Given the description of an element on the screen output the (x, y) to click on. 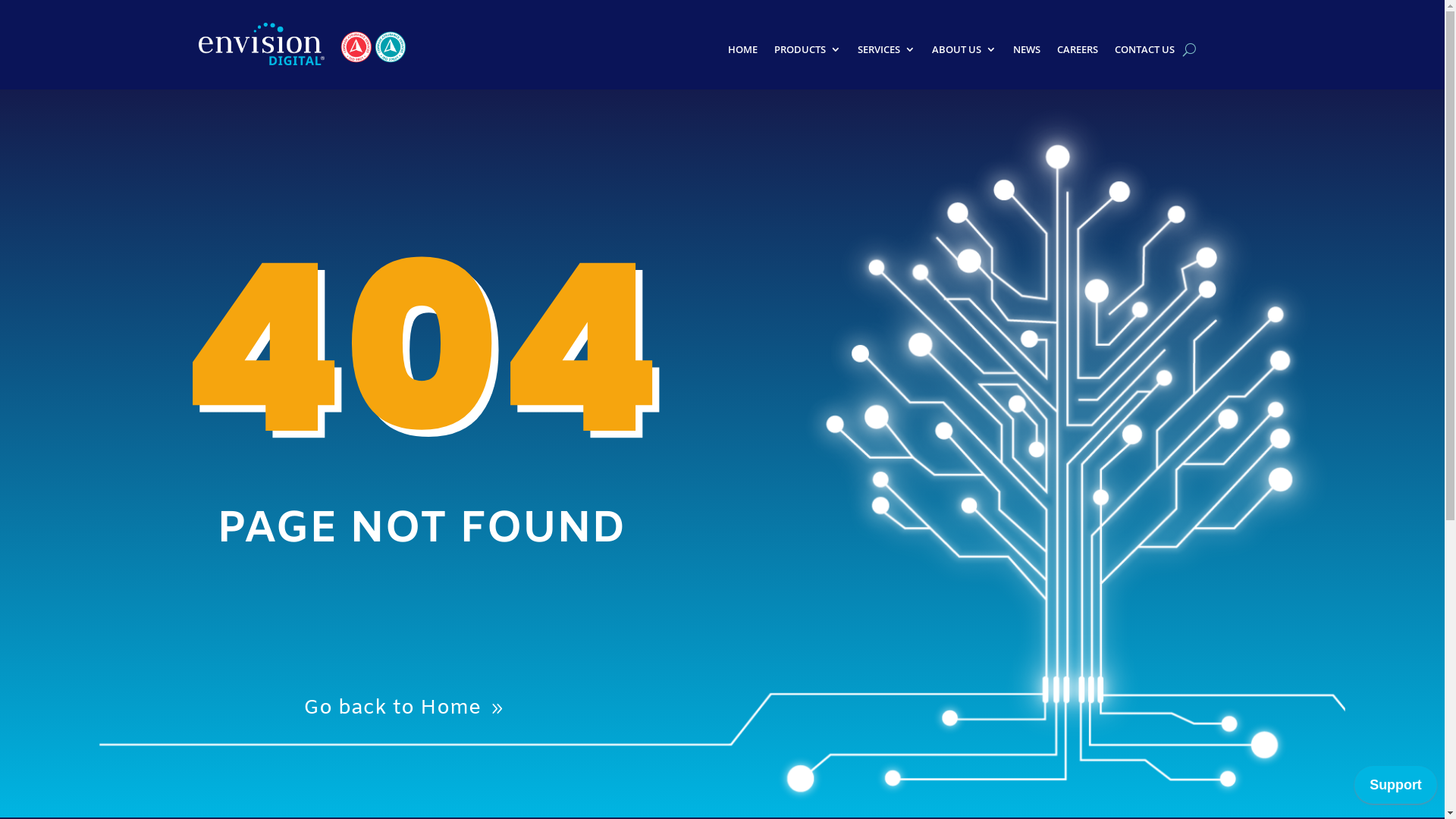
CONTACT US Element type: text (1144, 52)
NEWS Element type: text (1026, 52)
SERVICES Element type: text (886, 52)
HOME Element type: text (742, 52)
Go back to Home Element type: text (404, 707)
PRODUCTS Element type: text (807, 52)
ABOUT US Element type: text (963, 52)
CAREERS Element type: text (1077, 52)
